Given the description of an element on the screen output the (x, y) to click on. 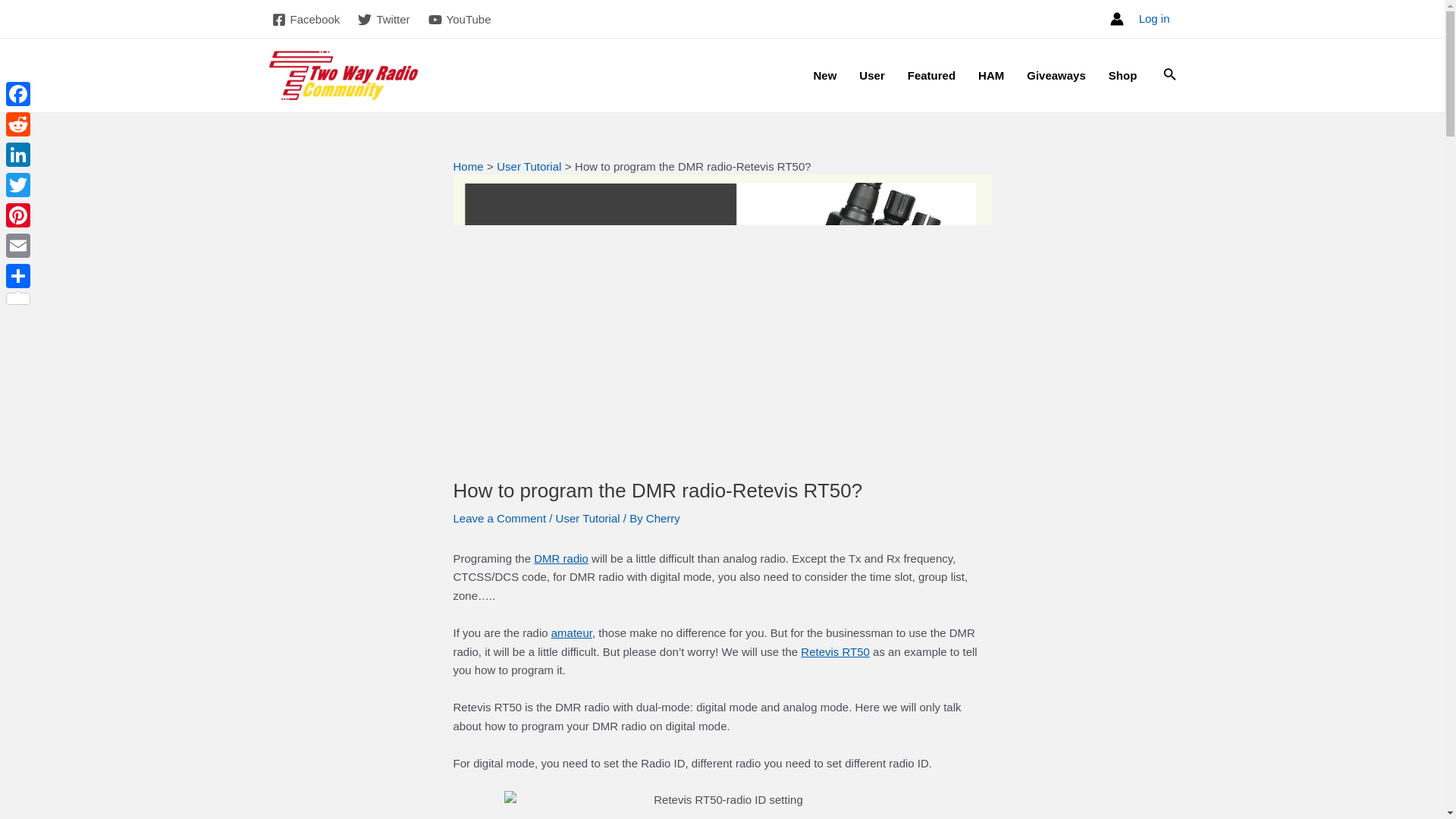
Giveaways (1055, 75)
Featured (931, 75)
View all posts by Cherry (662, 517)
Retevis RT50-radio ID setting (721, 805)
Facebook (304, 19)
Log in (1154, 18)
Twitter (383, 19)
YouTube (459, 19)
